Given the description of an element on the screen output the (x, y) to click on. 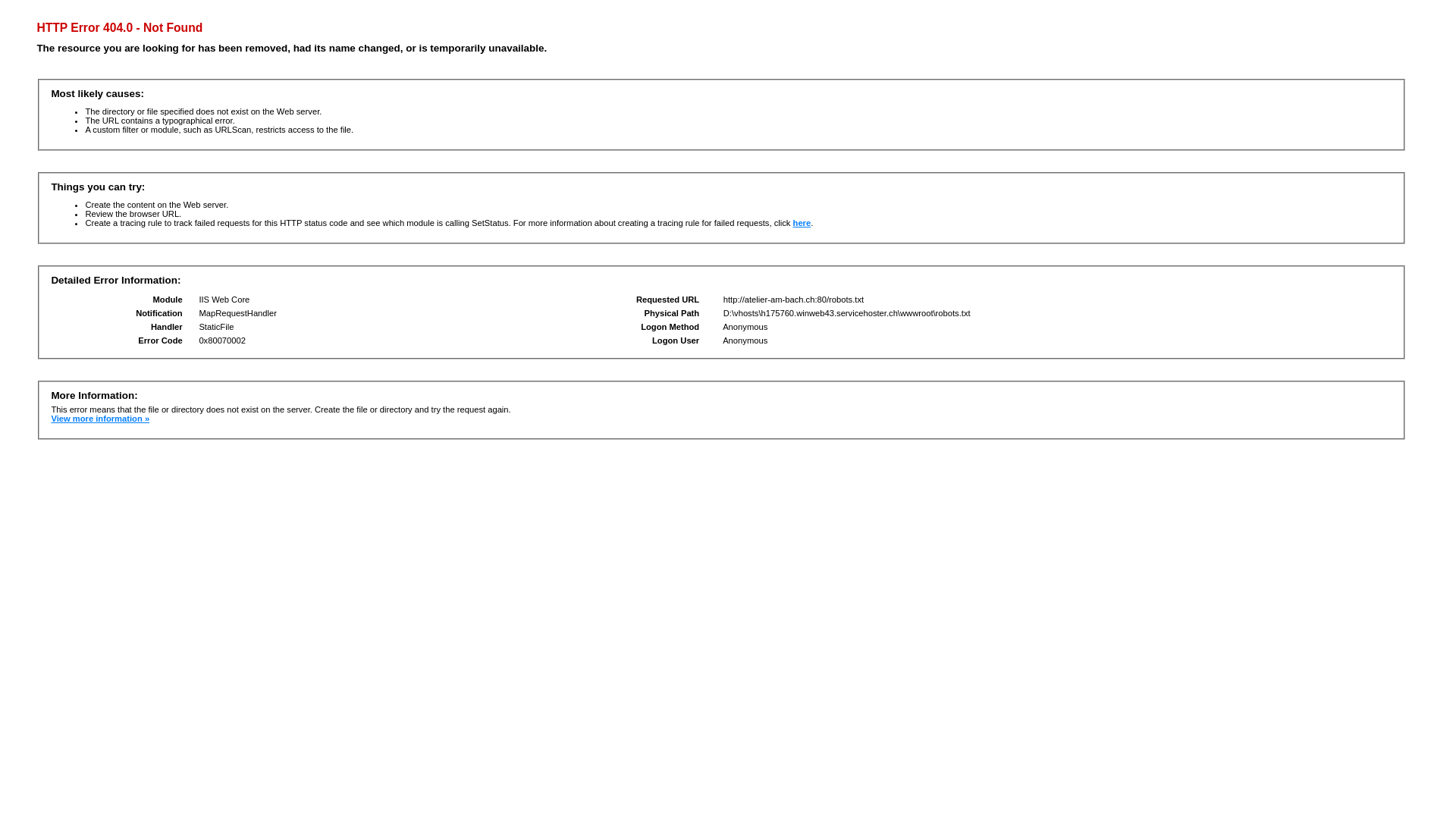
here Element type: text (802, 222)
